Given the description of an element on the screen output the (x, y) to click on. 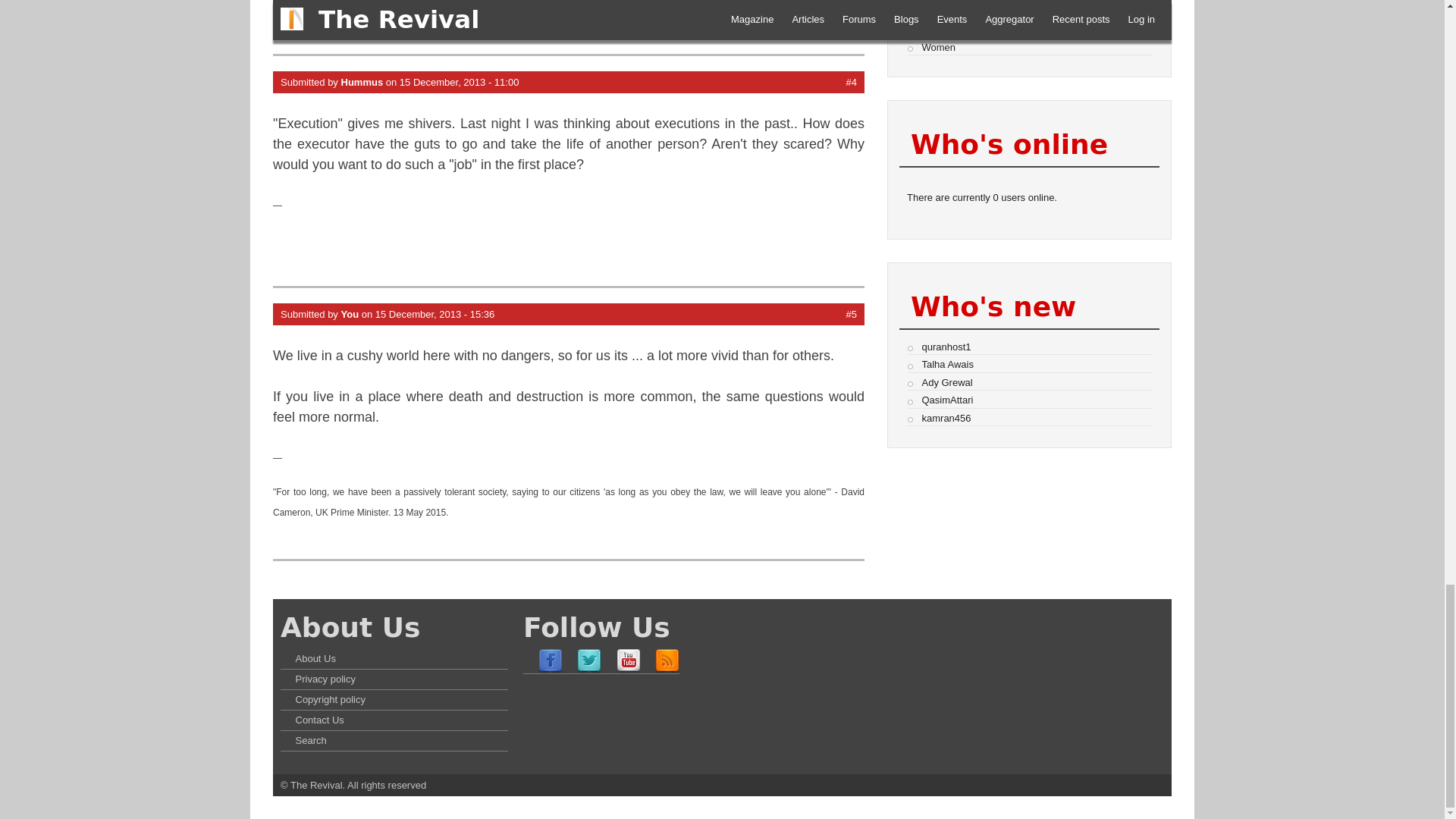
View user profile. (362, 81)
You (349, 314)
Hummus (362, 81)
View user profile. (349, 314)
